Given the description of an element on the screen output the (x, y) to click on. 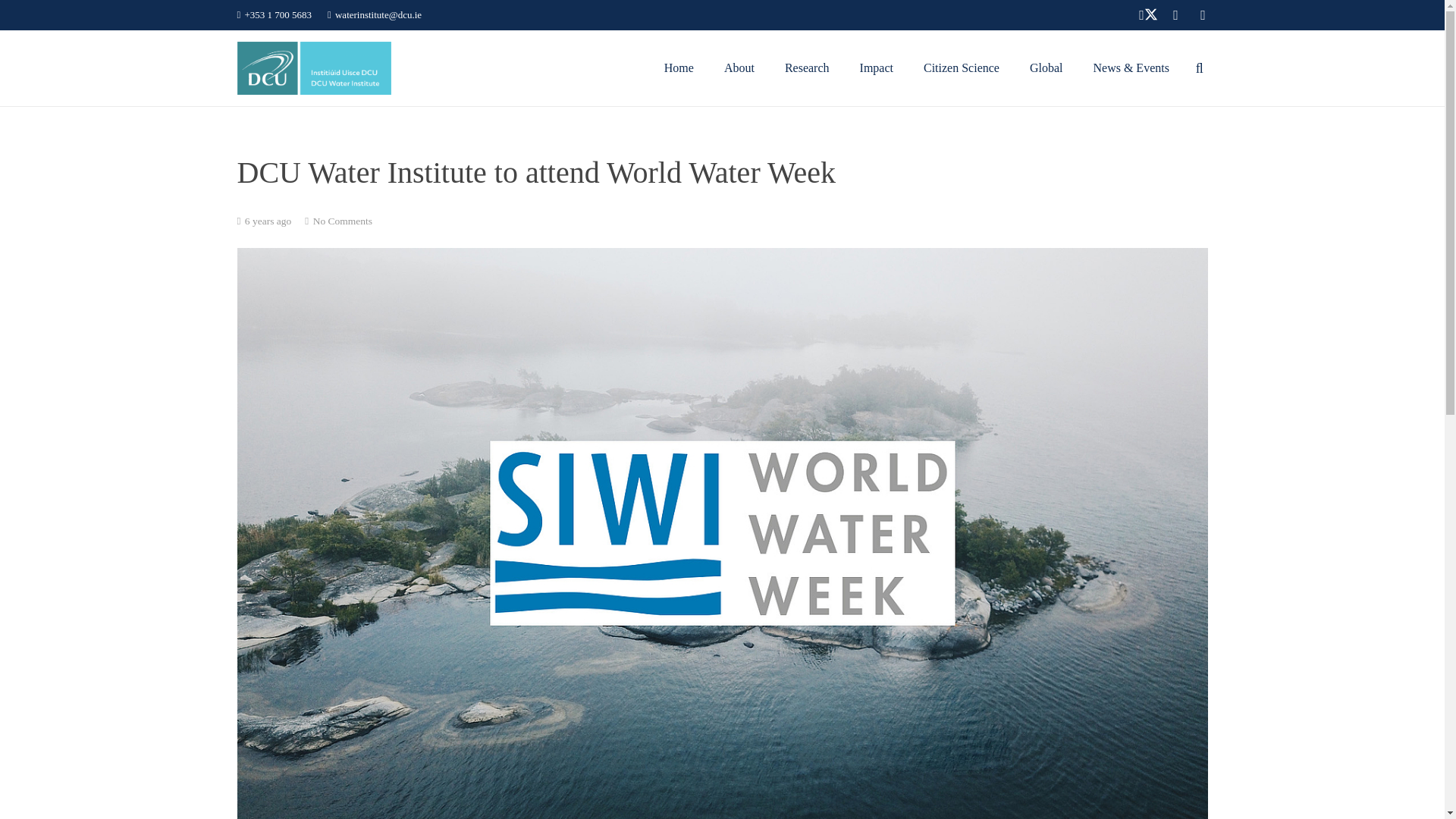
Twitter (1148, 14)
Citizen Science (961, 68)
YouTube (1175, 14)
No Comments (342, 220)
No Comments (342, 220)
Research (807, 68)
LinkedIn (1203, 14)
